Given the description of an element on the screen output the (x, y) to click on. 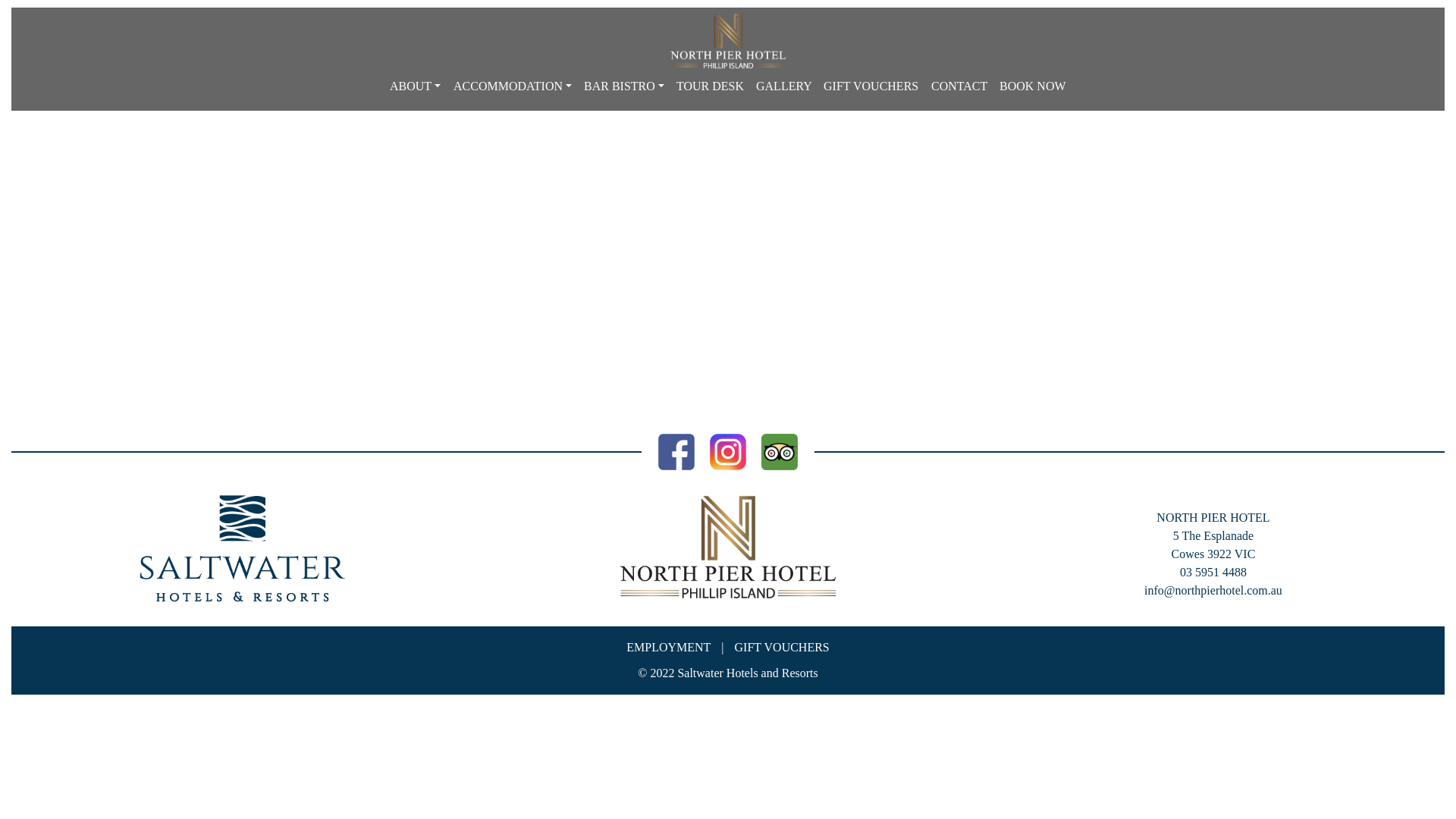
Instagram Element type: hover (727, 450)
Trip Advisor Element type: hover (779, 450)
BOOK NOW Element type: text (1032, 86)
info@northpierhotel.com.au Element type: text (1213, 589)
Facebook Element type: hover (676, 450)
ABOUT Element type: text (414, 86)
GALLERY Element type: text (783, 86)
ACCOMMODATION Element type: text (512, 86)
TOUR DESK Element type: text (709, 86)
CONTACT Element type: text (959, 86)
EMPLOYMENT Element type: text (668, 646)
GIFT VOUCHERS Element type: text (870, 86)
BAR BISTRO Element type: text (623, 86)
Saltwater Hotels & Resorts Element type: hover (242, 548)
GIFT VOUCHERS Element type: text (781, 646)
